Given the description of an element on the screen output the (x, y) to click on. 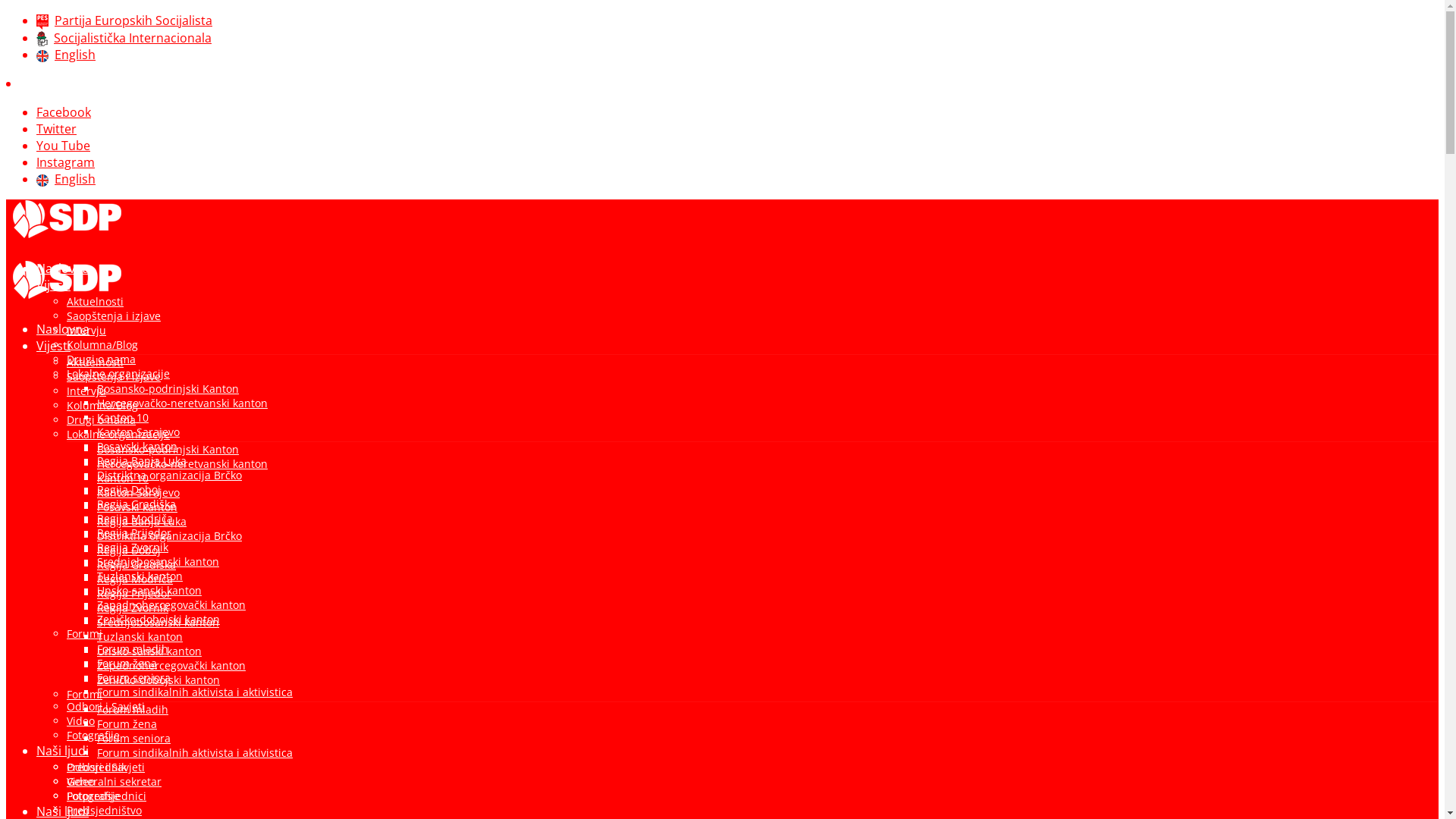
Forum mladih Element type: text (132, 648)
Predsjednik Element type: text (96, 766)
Forum sindikalnih aktivista i aktivistica Element type: text (194, 691)
Facebook Element type: text (63, 111)
Kolumna/Blog Element type: text (102, 344)
Posavski kanton Element type: text (137, 446)
Forum seniora Element type: text (133, 738)
Odbori i Savjeti Element type: text (105, 766)
Posavski kanton Element type: text (137, 506)
Kanton Sarajevo Element type: text (138, 431)
Regija Zvornik Element type: text (132, 546)
Drugi o nama Element type: text (100, 358)
You Tube Element type: text (63, 145)
Aktuelnosti Element type: text (94, 361)
Kolumna/Blog Element type: text (102, 405)
Regija Prijedor Element type: text (134, 532)
Drugi o nama Element type: text (100, 419)
Regija Banja Luka Element type: text (141, 460)
English Element type: text (65, 54)
Regija Banja Luka Element type: text (141, 521)
English Element type: text (65, 178)
Unsko-sanski kanton Element type: text (149, 590)
Unsko-sanski kanton Element type: text (149, 650)
Forumi Element type: text (84, 633)
Vijesti Element type: text (53, 284)
Video Element type: text (80, 720)
Potpredsjednici Element type: text (106, 795)
Forum sindikalnih aktivista i aktivistica Element type: text (194, 752)
Instagram Element type: text (65, 161)
Lokalne organizacije Element type: text (117, 373)
Tuzlanski kanton Element type: text (139, 575)
Lokalne organizacije Element type: text (117, 433)
Fotografije Element type: text (92, 735)
Kanton 10 Element type: text (122, 477)
Srednjobosanski kanton Element type: text (158, 622)
Naslovna Element type: text (62, 268)
Forum mladih Element type: text (132, 709)
Kanton Sarajevo Element type: text (138, 492)
Video Element type: text (80, 781)
Tuzlanski kanton Element type: text (139, 636)
Bosansko-podrinjski Kanton Element type: text (167, 449)
Srednjobosanski kanton Element type: text (158, 561)
Partija Europskih Socijalista Element type: text (124, 20)
Kanton 10 Element type: text (122, 417)
Regija Doboj Element type: text (128, 549)
Bosansko-podrinjski Kanton Element type: text (167, 388)
Forumi Element type: text (84, 694)
Fotografije Element type: text (92, 795)
Intervju Element type: text (86, 390)
Naslovna Element type: text (62, 328)
Vijesti Element type: text (53, 345)
Regija Doboj Element type: text (128, 489)
Regija Zvornik Element type: text (132, 607)
Forum seniora Element type: text (133, 677)
Regija Prijedor Element type: text (134, 593)
Odbori i Savjeti Element type: text (105, 706)
Twitter Element type: text (56, 128)
Aktuelnosti Element type: text (94, 301)
Intervju Element type: text (86, 330)
Generalni sekretar Element type: text (113, 781)
